Given the description of an element on the screen output the (x, y) to click on. 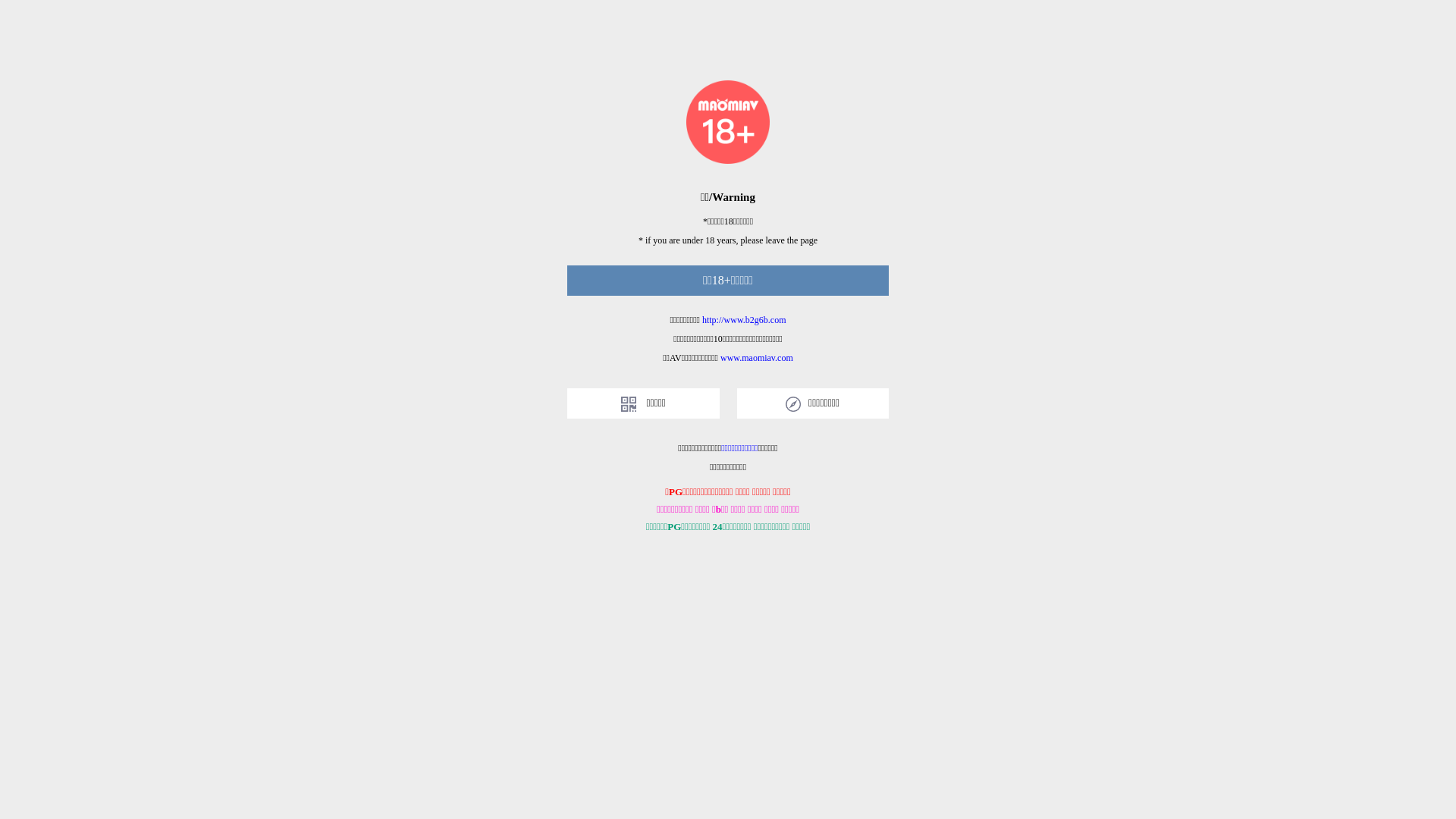
www.maomiav.com Element type: text (756, 357)
http://www.b2g6b.com Element type: text (744, 319)
